Given the description of an element on the screen output the (x, y) to click on. 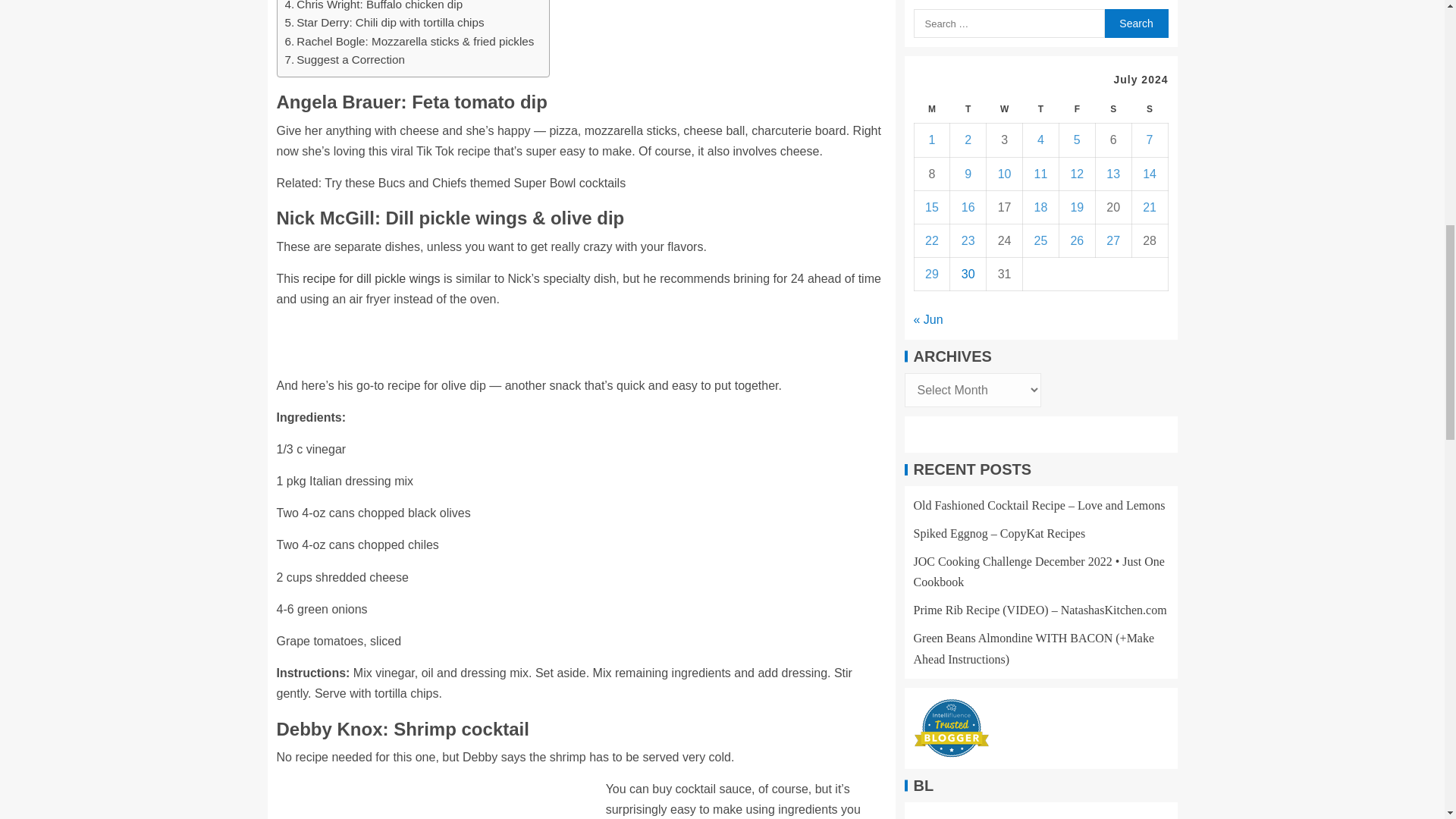
Star Derry: Chili dip with tortilla chips (384, 22)
Star Derry: Chili dip with tortilla chips (384, 22)
Chris Wright: Buffalo chicken dip (374, 6)
Chris Wright: Buffalo chicken dip (374, 6)
Suggest a Correction (344, 59)
recipe for dill pickle wings (370, 278)
Suggest a Correction (344, 59)
